Given the description of an element on the screen output the (x, y) to click on. 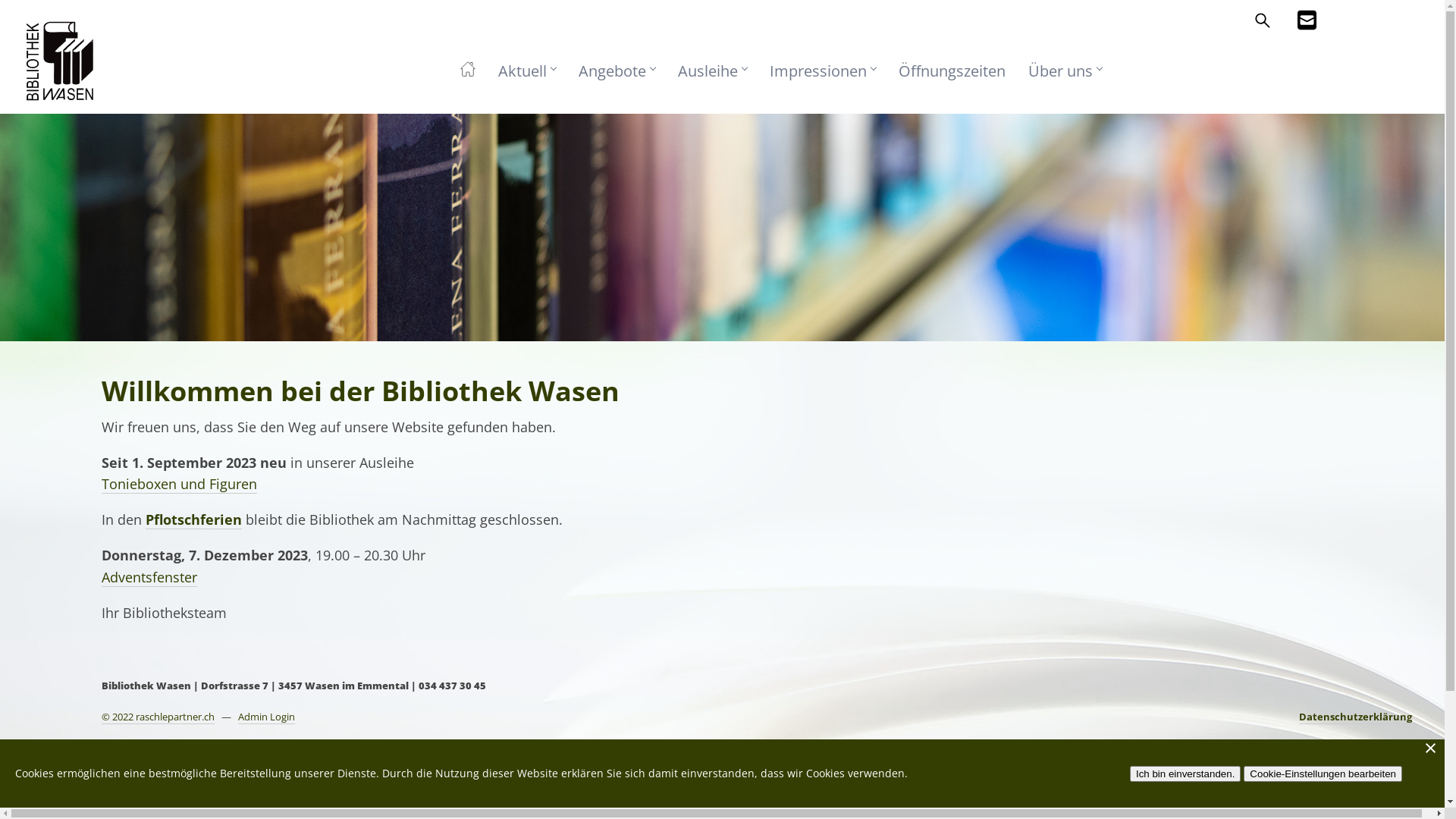
Angebote Element type: text (616, 67)
Impressionen Element type: text (822, 67)
Admin Login Element type: text (266, 717)
Adventsfenster Element type: text (149, 576)
Pflotschferien Element type: text (193, 519)
Aktuell Element type: text (526, 67)
Tonieboxen und Figuren Element type: text (179, 483)
Cookie-Einstellungen bearbeiten Element type: text (1322, 773)
Ich bin einverstanden. Element type: text (1184, 773)
Ausleihe Element type: text (712, 67)
